Given the description of an element on the screen output the (x, y) to click on. 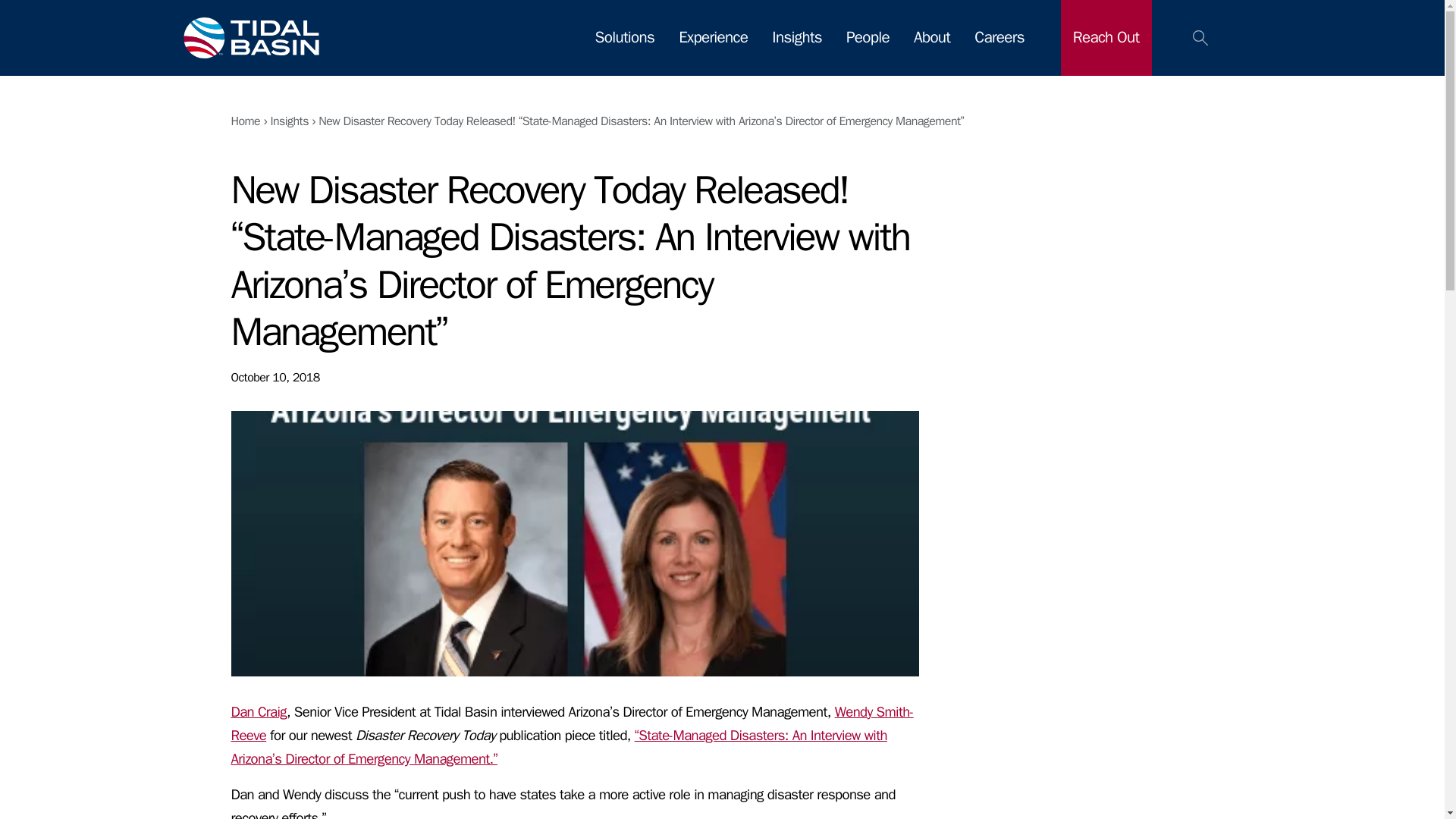
Solutions (625, 37)
Insights (288, 120)
Dan Craig (257, 711)
About (932, 37)
Wendy Smith-Reeve (571, 723)
People (867, 37)
Home (245, 120)
Reach Out (1106, 37)
Experience (713, 37)
Careers (999, 37)
